Given the description of an element on the screen output the (x, y) to click on. 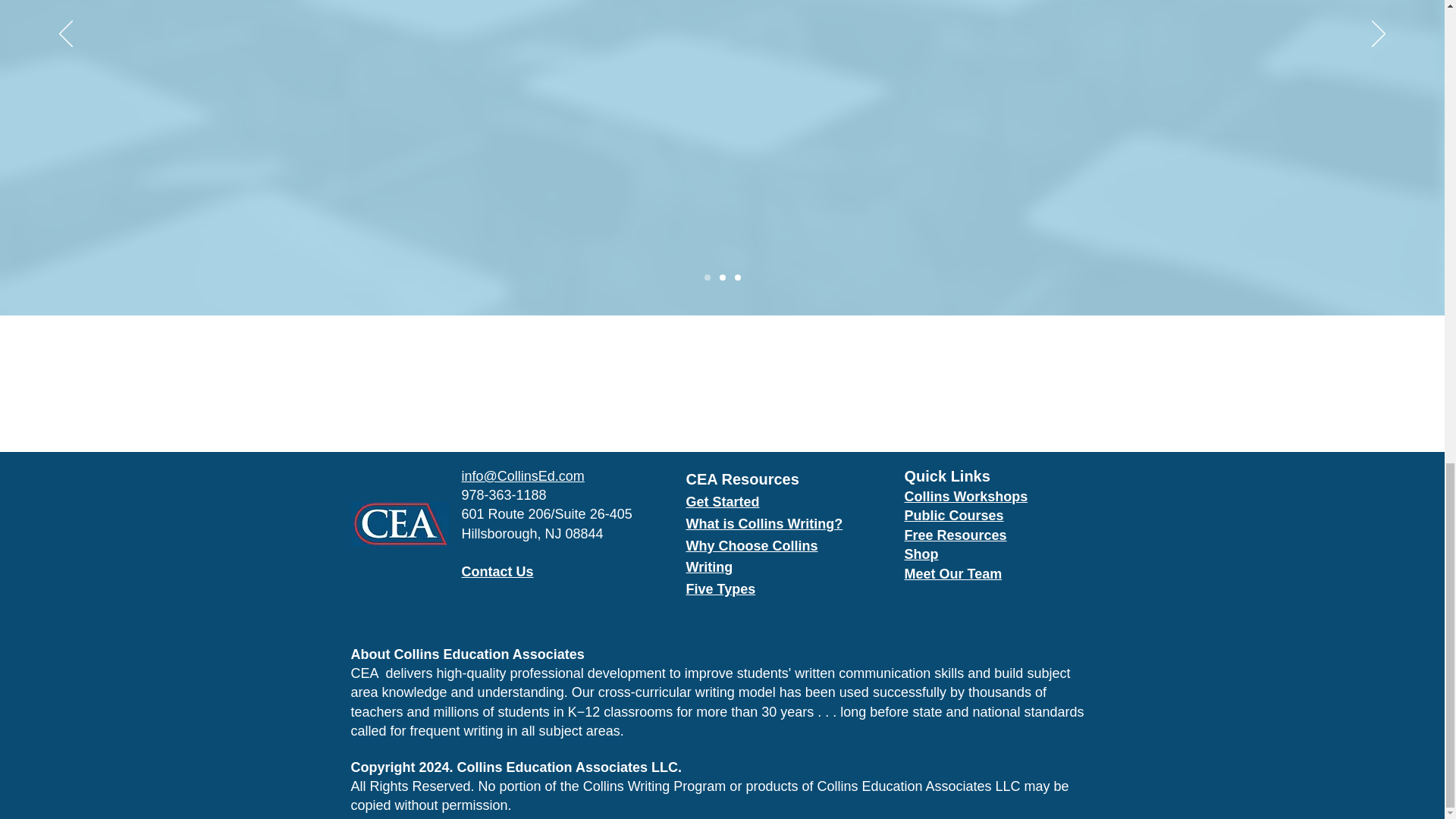
Get Started (721, 501)
Free Resources (955, 534)
Writi (802, 523)
Five Types (720, 589)
Public Courses (953, 515)
Why Choose Collins Writing (750, 556)
Contact Us (496, 571)
What is Collins (736, 523)
Shop (920, 554)
ng? (829, 523)
